Given the description of an element on the screen output the (x, y) to click on. 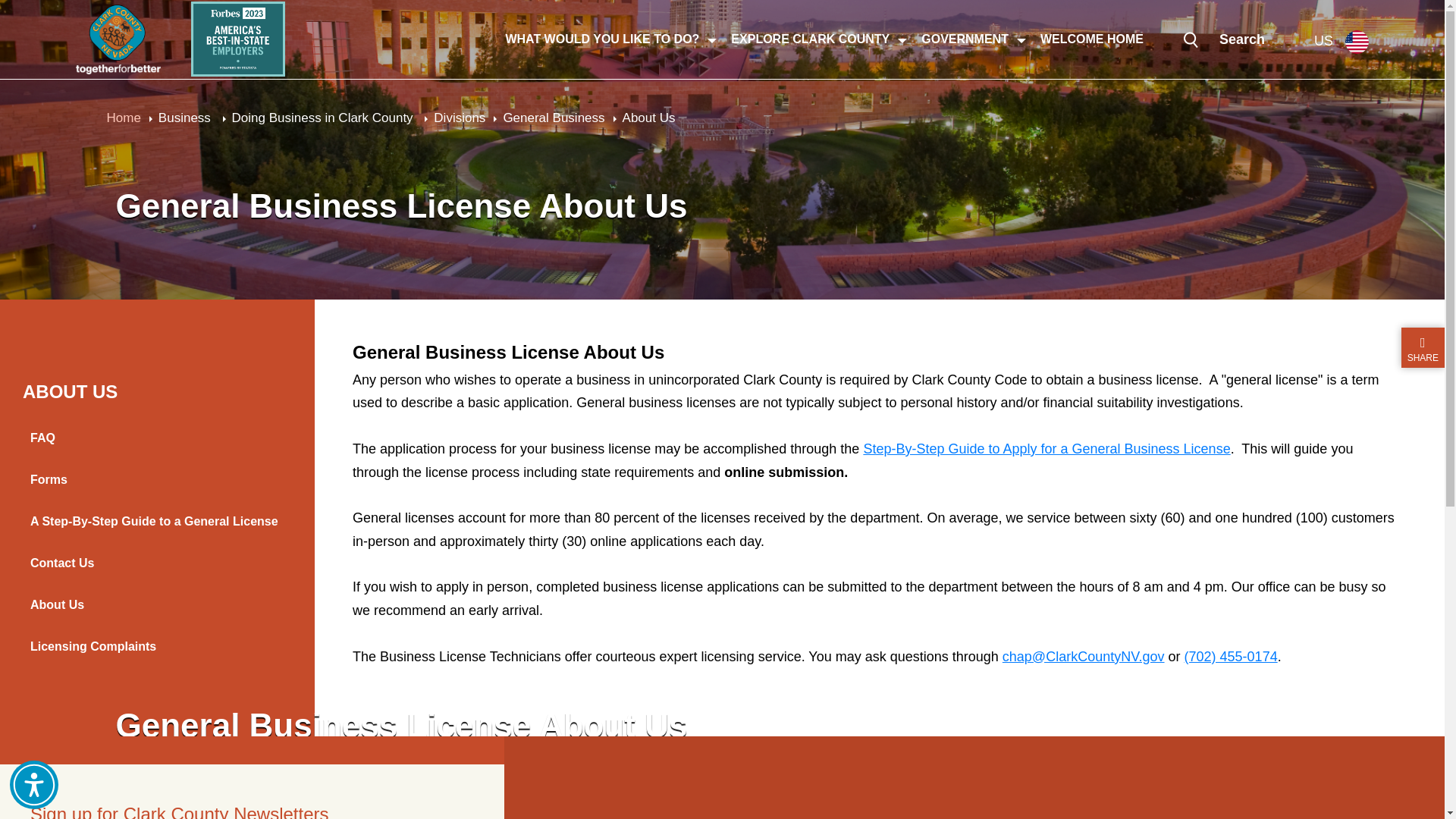
WHAT WOULD YOU LIKE TO DO? (601, 39)
Accessibility Menu (34, 784)
